Given the description of an element on the screen output the (x, y) to click on. 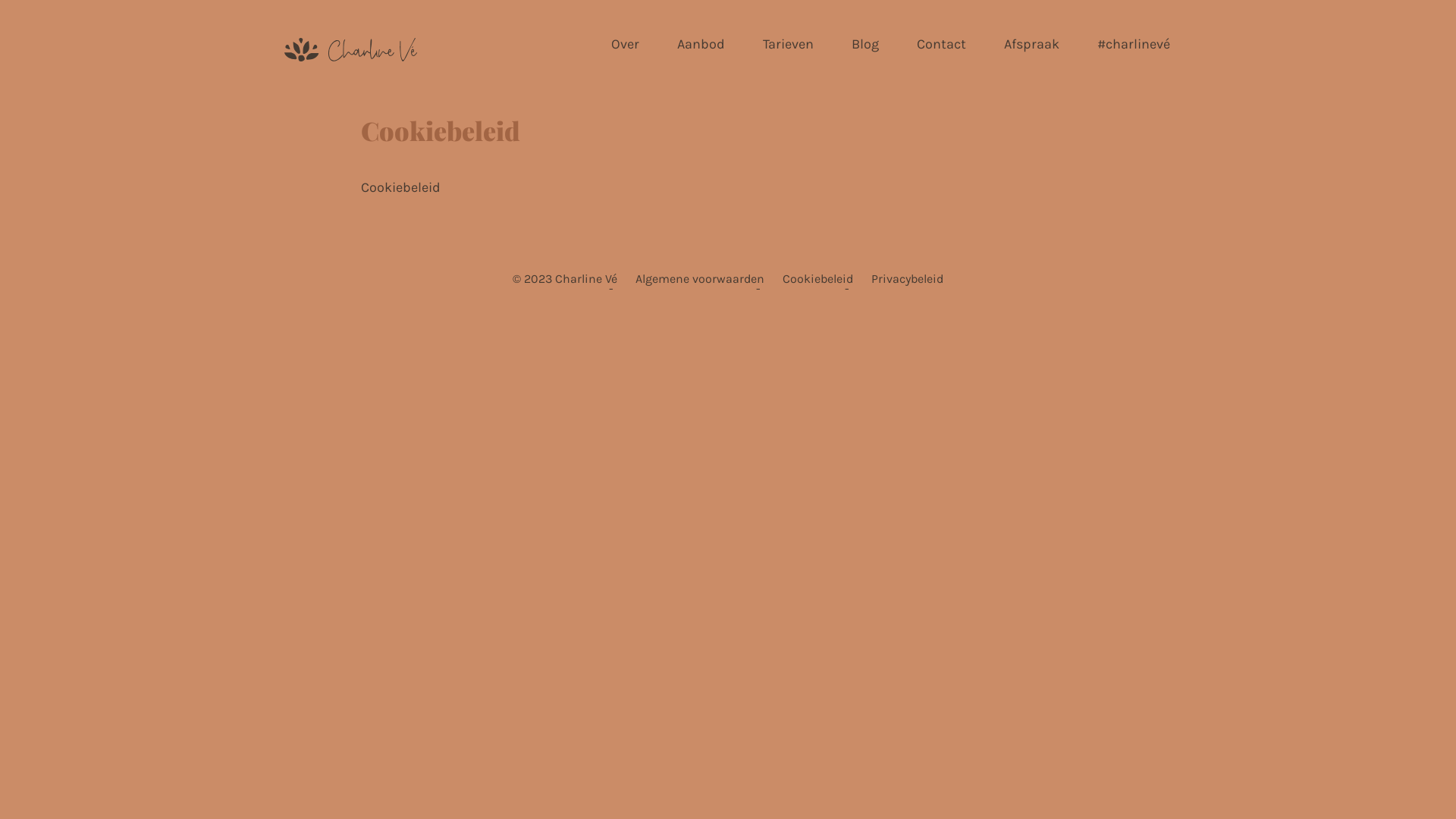
Blog Element type: text (865, 43)
Afspraak Element type: text (1031, 43)
Privacybeleid Element type: text (907, 278)
Tarieven Element type: text (788, 43)
Aanbod Element type: text (700, 43)
Over Element type: text (624, 43)
Contact Element type: text (941, 43)
Algemene voorwaarden Element type: text (699, 278)
Cookiebeleid Element type: text (817, 278)
